Given the description of an element on the screen output the (x, y) to click on. 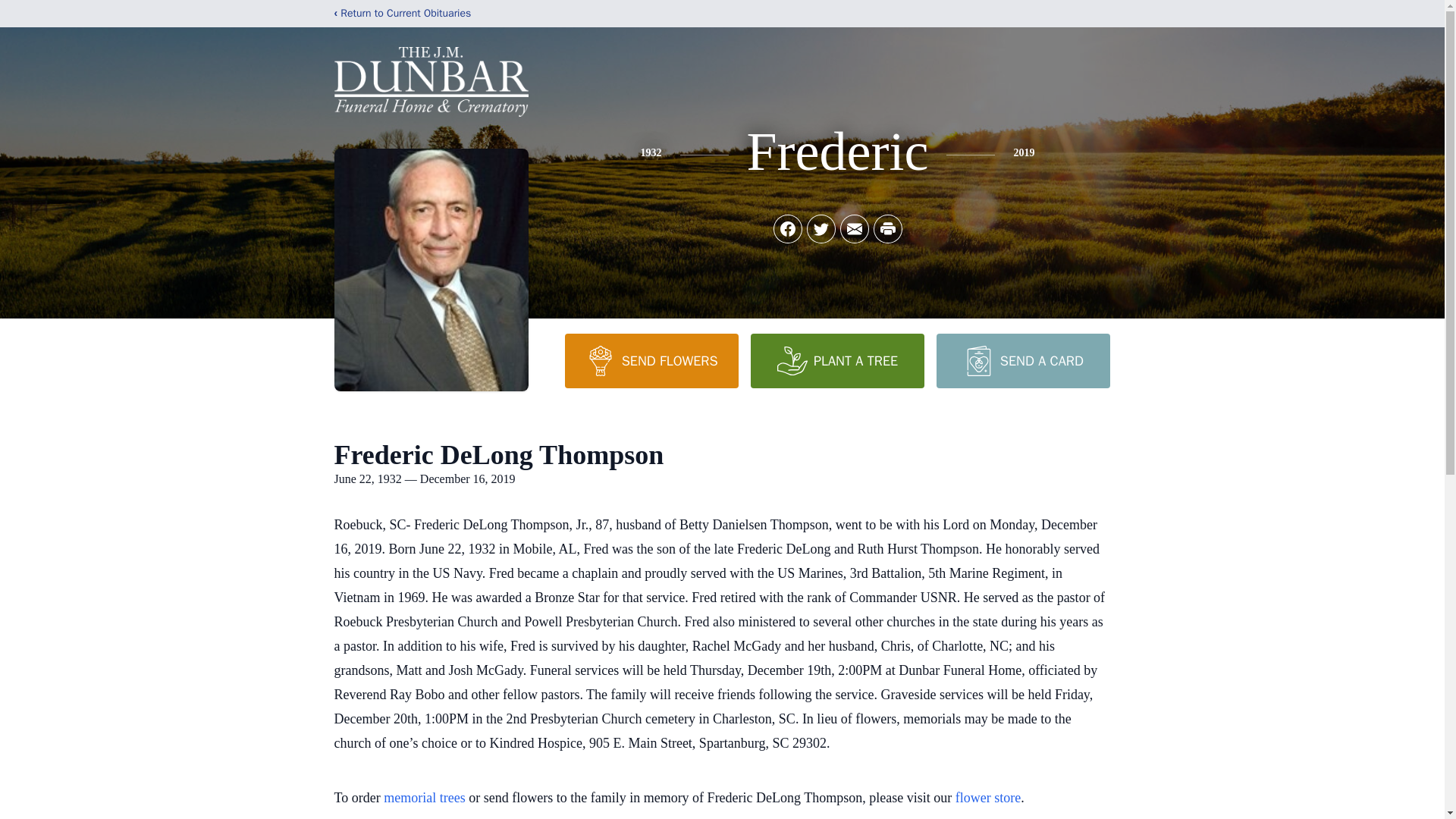
PLANT A TREE (837, 360)
flower store (987, 797)
SEND FLOWERS (651, 360)
memorial trees (424, 797)
SEND A CARD (1022, 360)
